Given the description of an element on the screen output the (x, y) to click on. 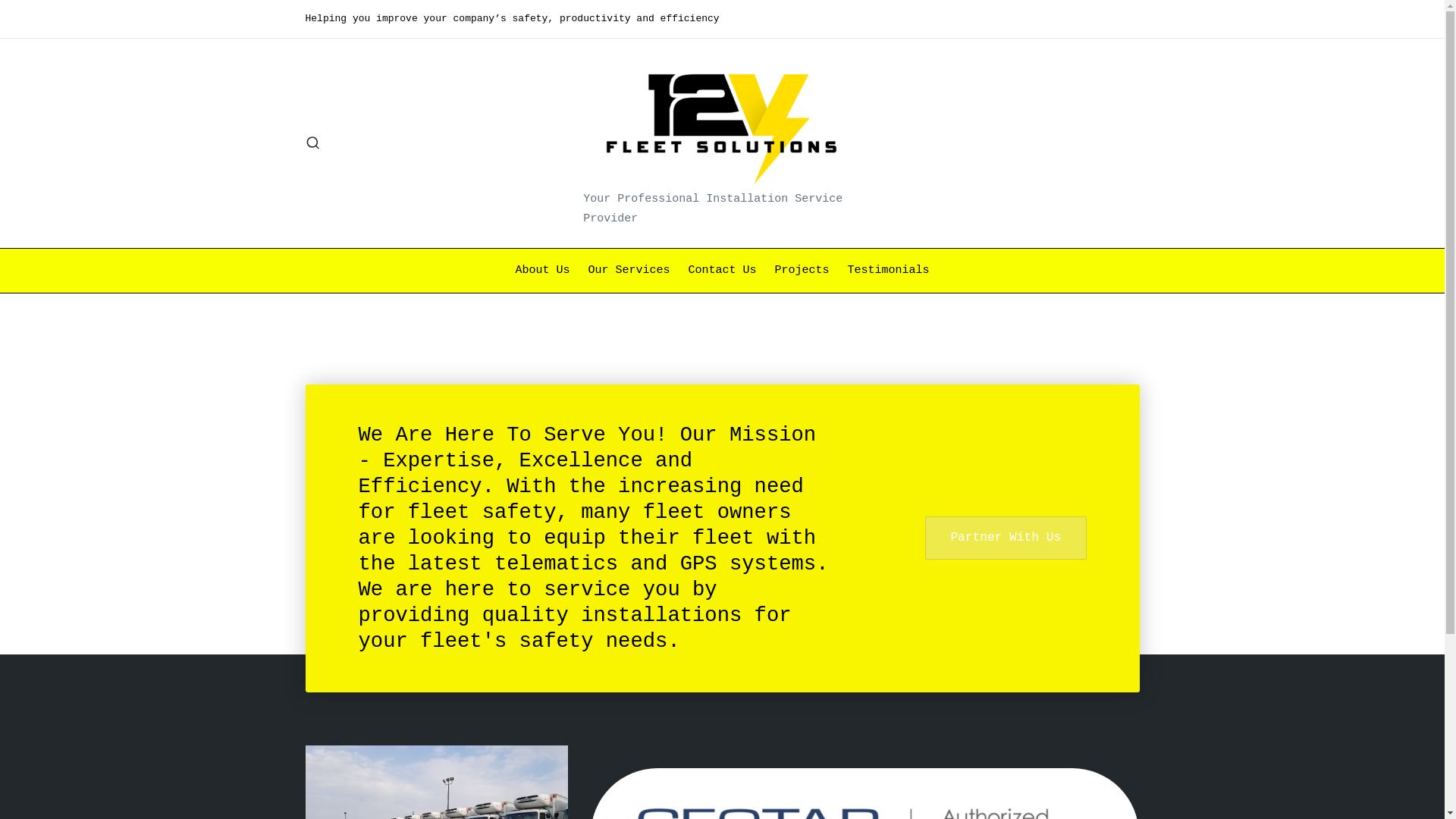
Partner With Us Element type: text (1005, 537)
About Us Element type: text (541, 270)
Our Services Element type: text (628, 270)
Projects Element type: text (802, 270)
Contact Us Element type: text (721, 270)
Testimonials Element type: text (888, 270)
